Given the description of an element on the screen output the (x, y) to click on. 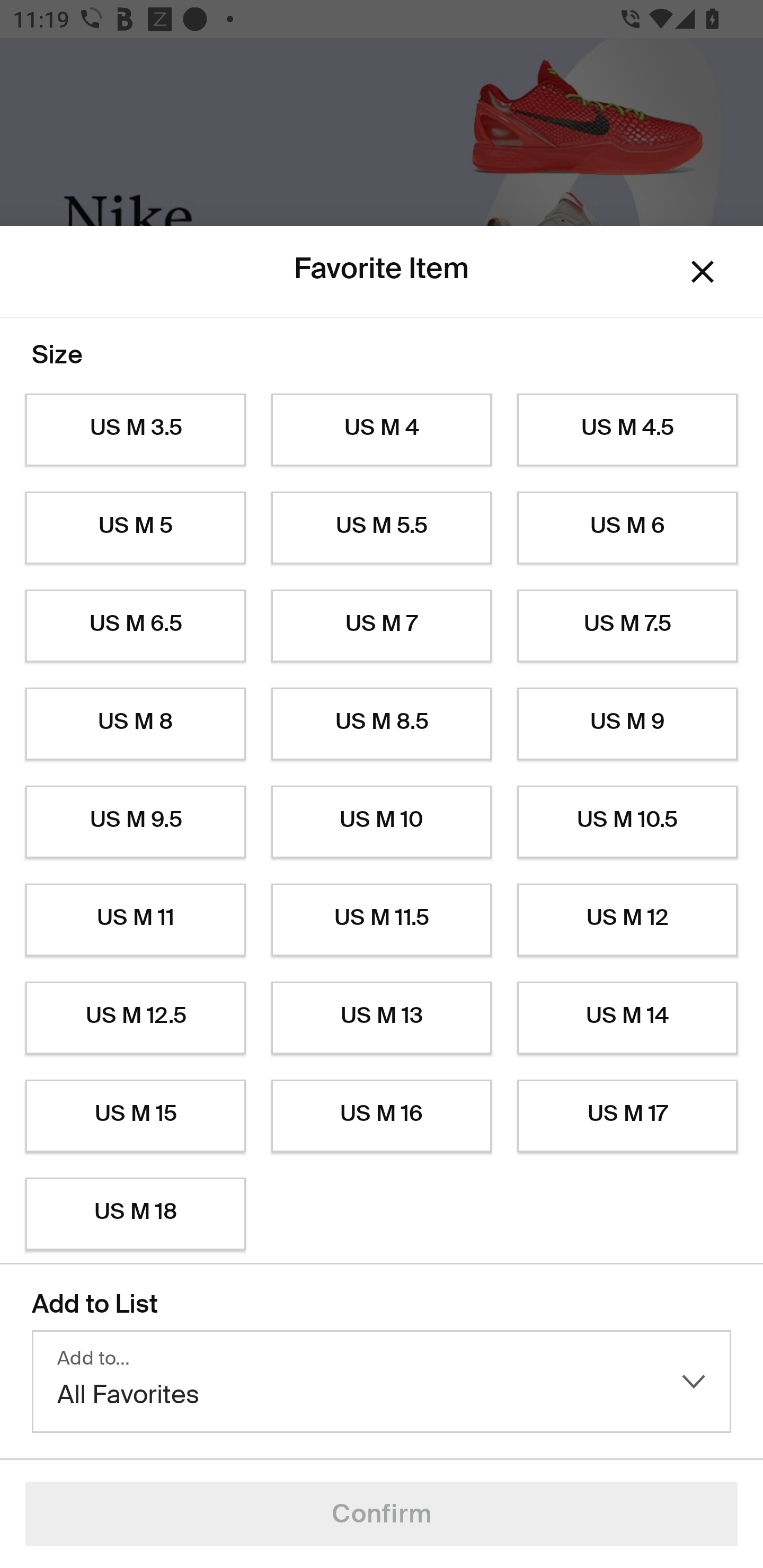
Dismiss (702, 271)
US M 3.5 (135, 430)
US M 4 (381, 430)
US M 4.5 (627, 430)
US M 5 (135, 527)
US M 5.5 (381, 527)
US M 6 (627, 527)
US M 6.5 (135, 626)
US M 7 (381, 626)
US M 7.5 (627, 626)
US M 8 (135, 724)
US M 8.5 (381, 724)
US M 9 (627, 724)
US M 9.5 (135, 822)
US M 10 (381, 822)
US M 10.5 (627, 822)
US M 11 (135, 919)
US M 11.5 (381, 919)
US M 12 (627, 919)
US M 12.5 (135, 1018)
US M 13 (381, 1018)
US M 14 (627, 1018)
US M 15 (135, 1116)
US M 16 (381, 1116)
US M 17 (627, 1116)
US M 18 (135, 1214)
Add to… All Favorites (381, 1381)
Confirm (381, 1513)
